Given the description of an element on the screen output the (x, y) to click on. 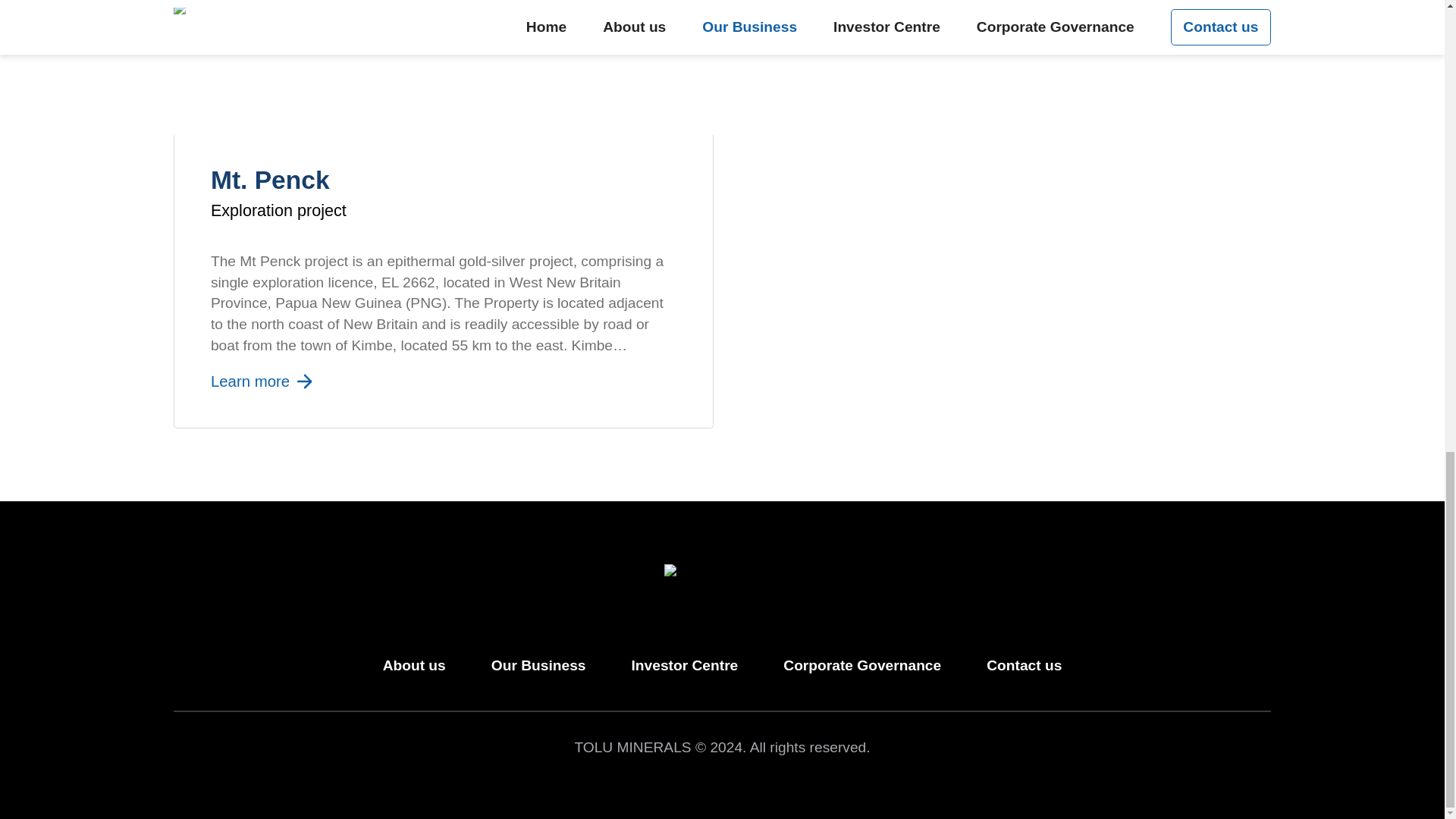
About us (413, 665)
Corporate Governance (861, 665)
Investor Centre (684, 665)
Contact us (1024, 665)
Our Business (539, 665)
